Given the description of an element on the screen output the (x, y) to click on. 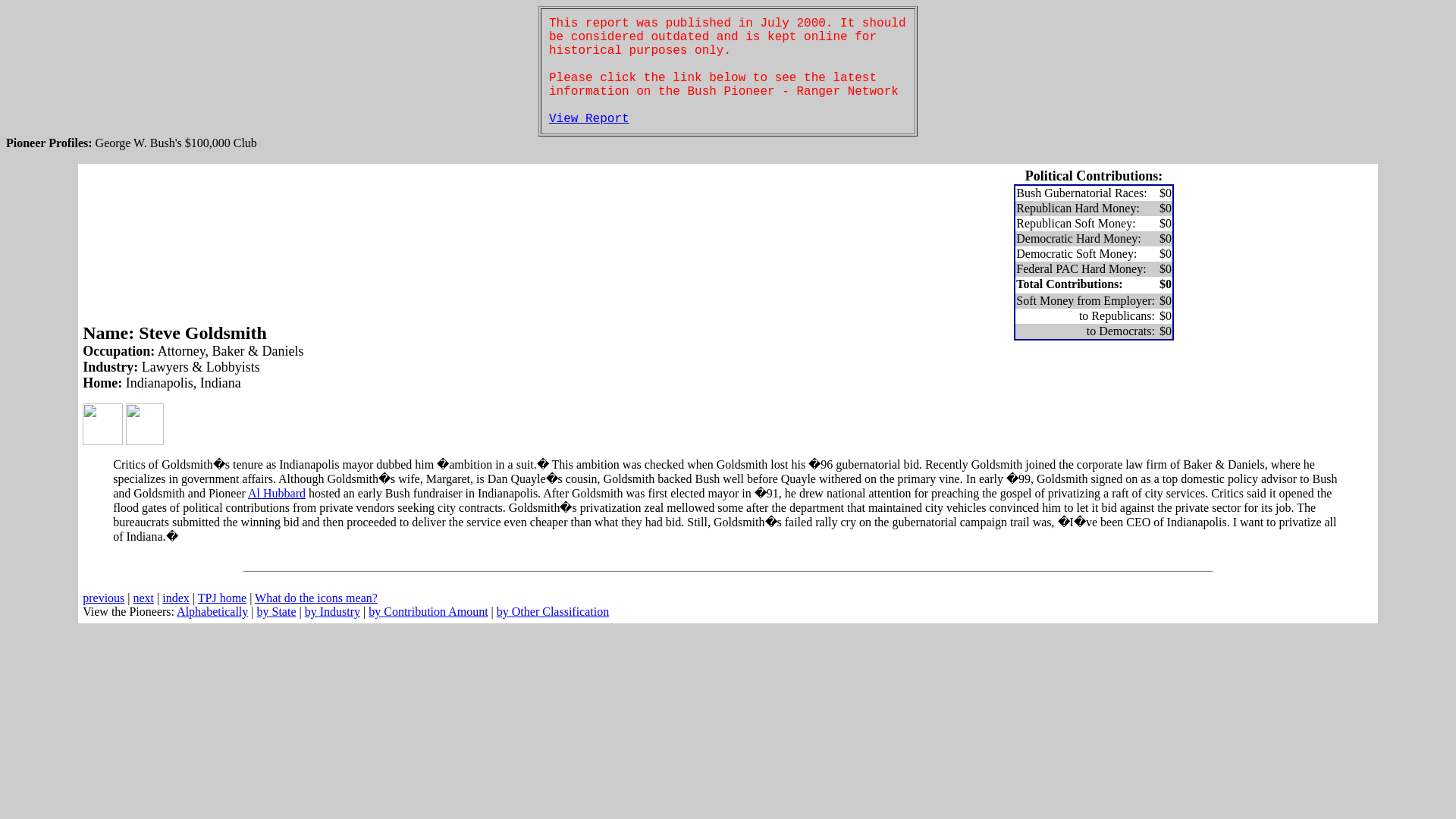
by Contribution Amount (427, 611)
index (175, 597)
Al Hubbard (276, 492)
View Report (588, 119)
by Other Classification (552, 611)
previous (102, 597)
TPJ home (222, 597)
Alphabetically (211, 611)
by Industry (331, 611)
next (143, 597)
What do the icons mean? (315, 597)
by State (275, 611)
